Given the description of an element on the screen output the (x, y) to click on. 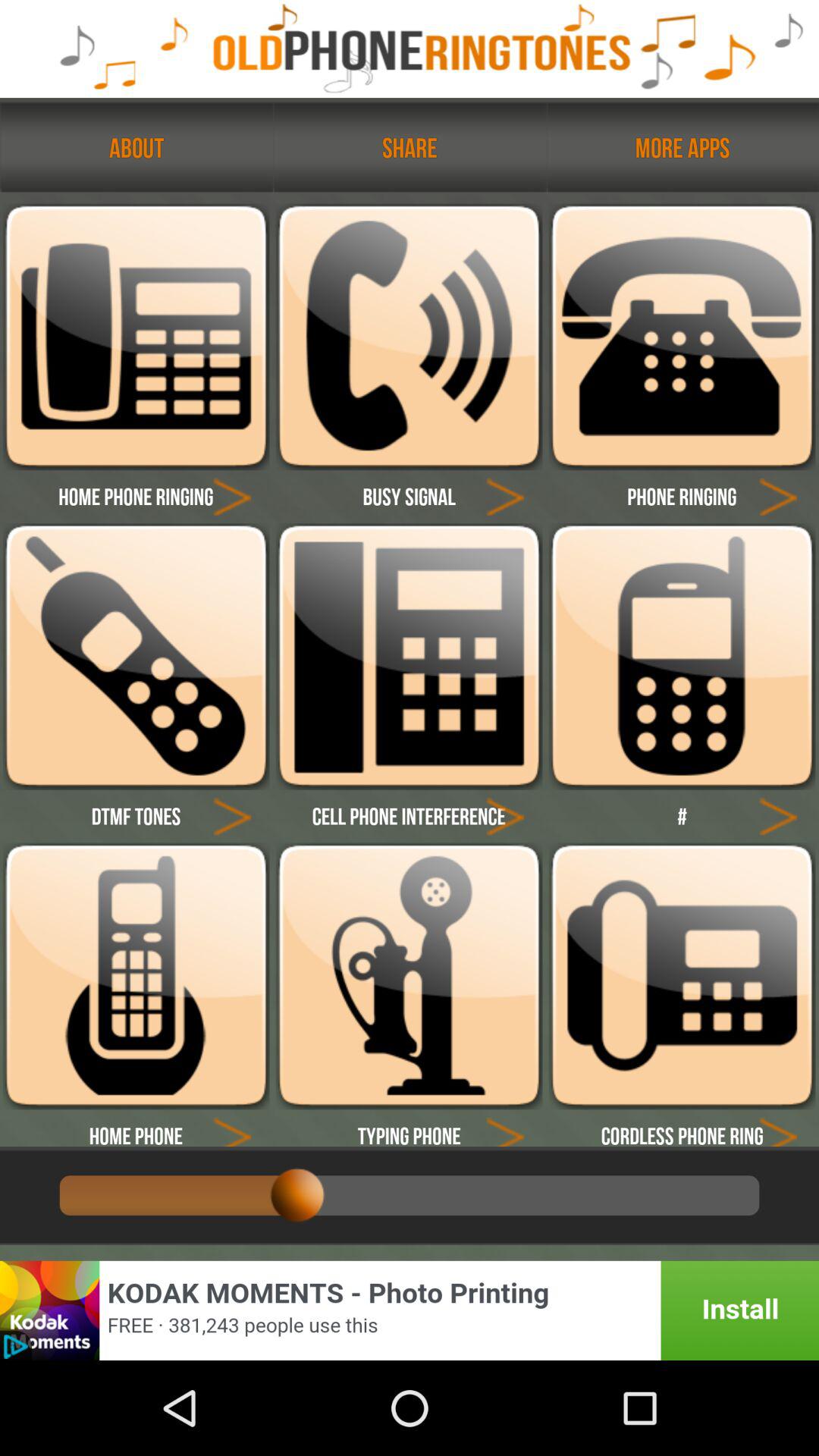
go to next (505, 815)
